Given the description of an element on the screen output the (x, y) to click on. 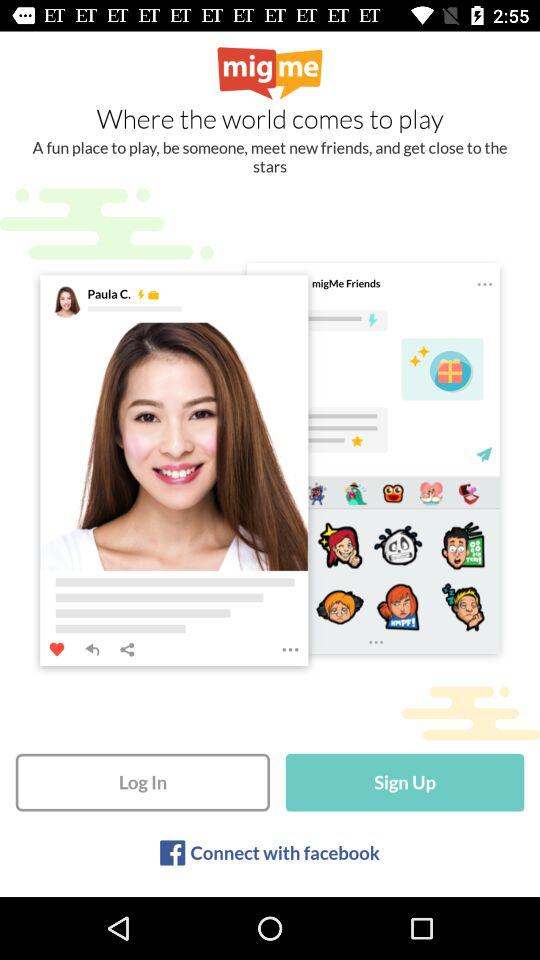
press the icon above connect with facebook (404, 782)
